Given the description of an element on the screen output the (x, y) to click on. 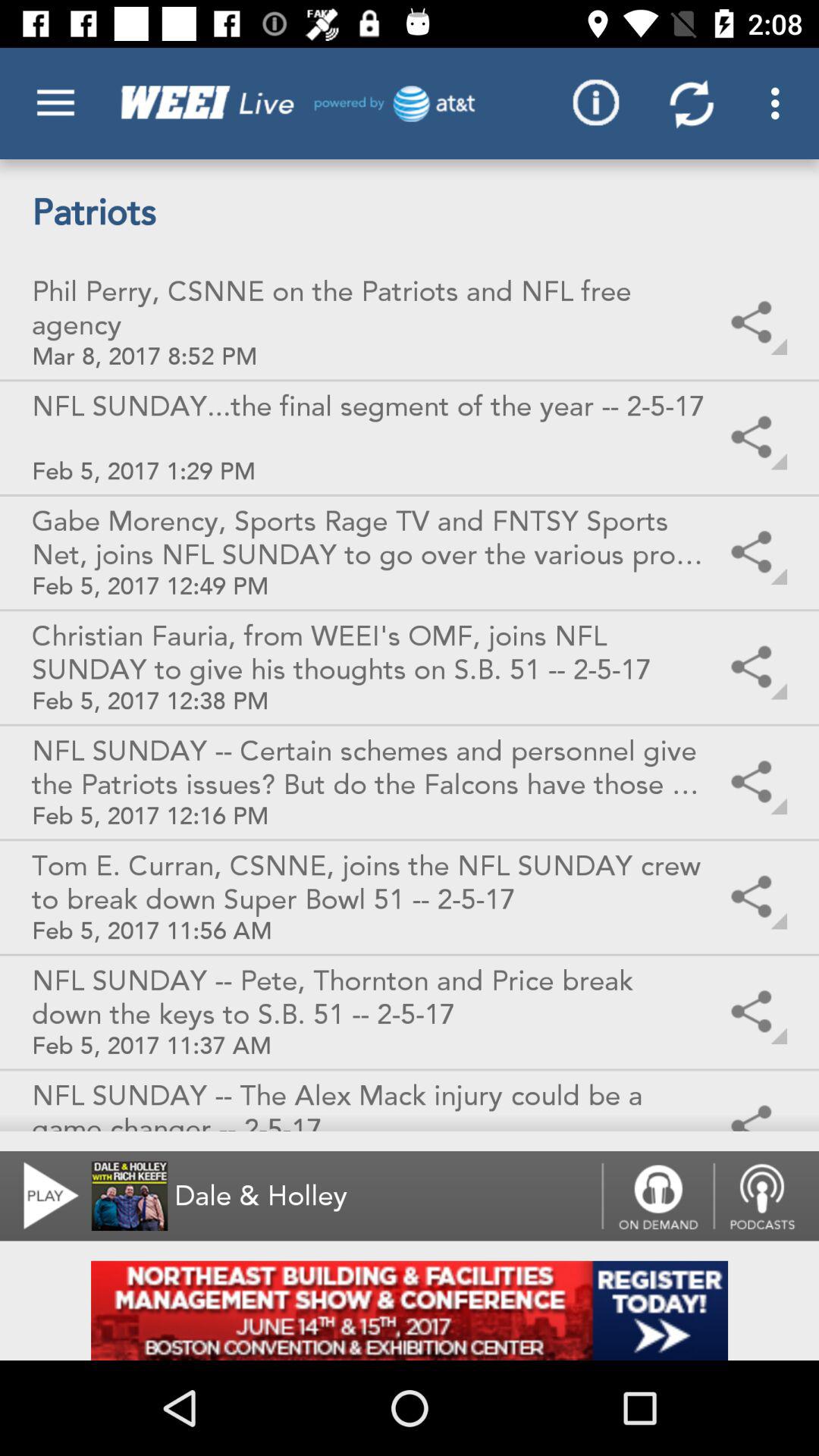
click on advertisement (409, 1310)
